Given the description of an element on the screen output the (x, y) to click on. 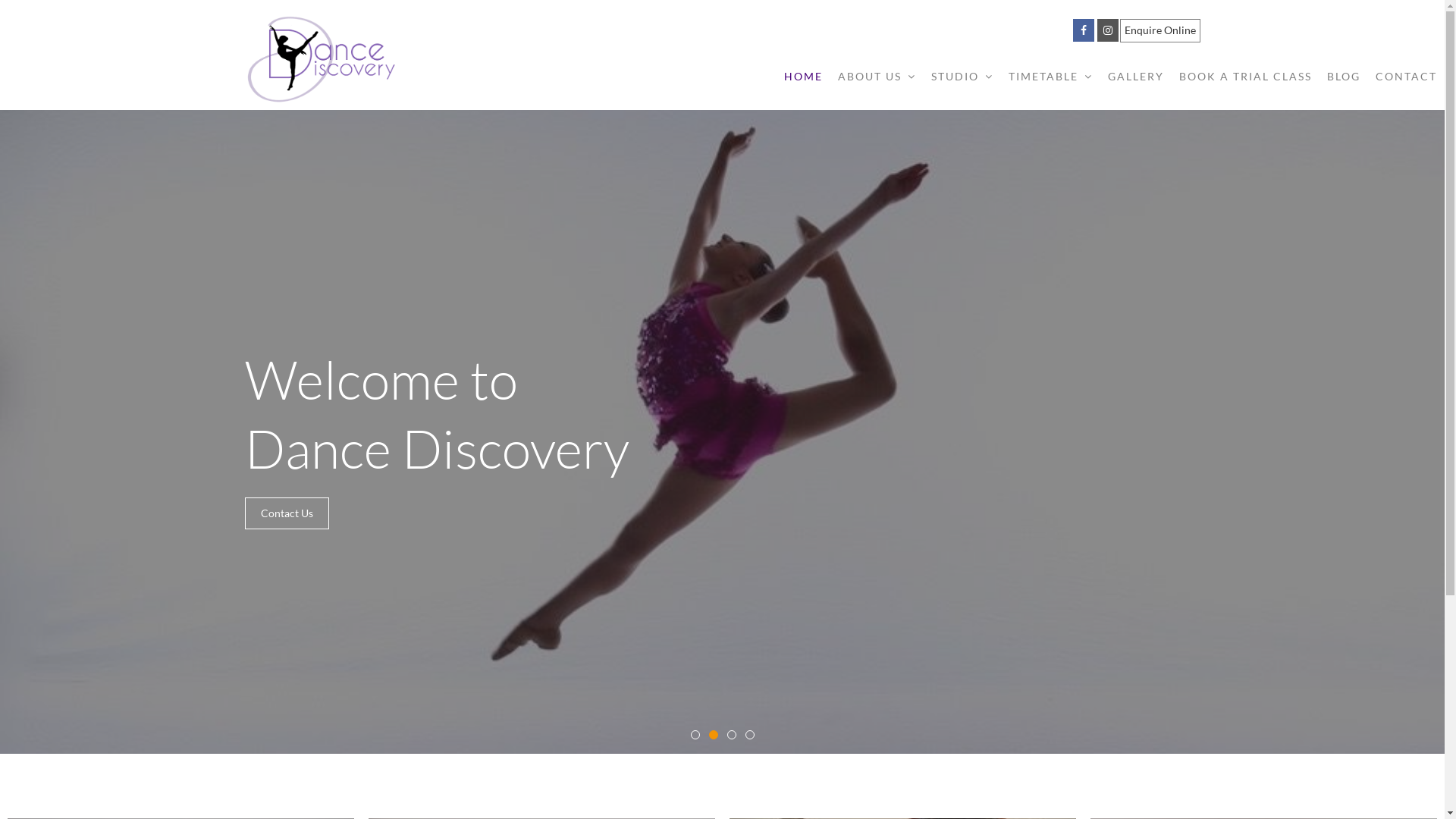
BLOG Element type: text (1343, 76)
HOME Element type: text (803, 76)
GALLERY Element type: text (1135, 76)
TIMETABLE Element type: text (1050, 76)
Enquire Online Element type: text (1159, 30)
BOOK A TRIAL CLASS Element type: text (1245, 76)
ABOUT US Element type: text (876, 76)
Contact Us Element type: text (286, 513)
CONTACT Element type: text (1406, 76)
STUDIO Element type: text (962, 76)
